Given the description of an element on the screen output the (x, y) to click on. 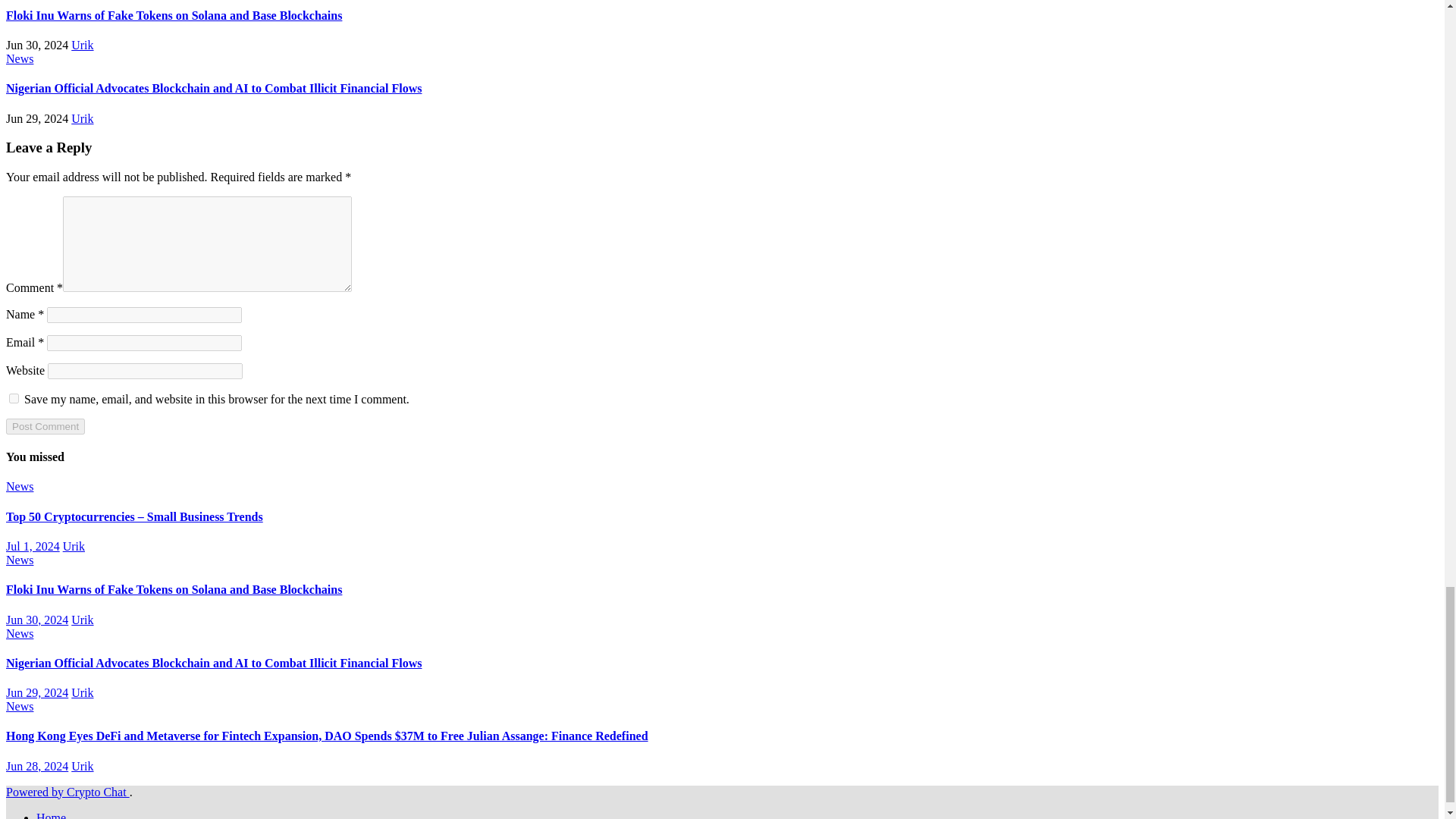
yes (13, 398)
Post Comment (44, 426)
